Given the description of an element on the screen output the (x, y) to click on. 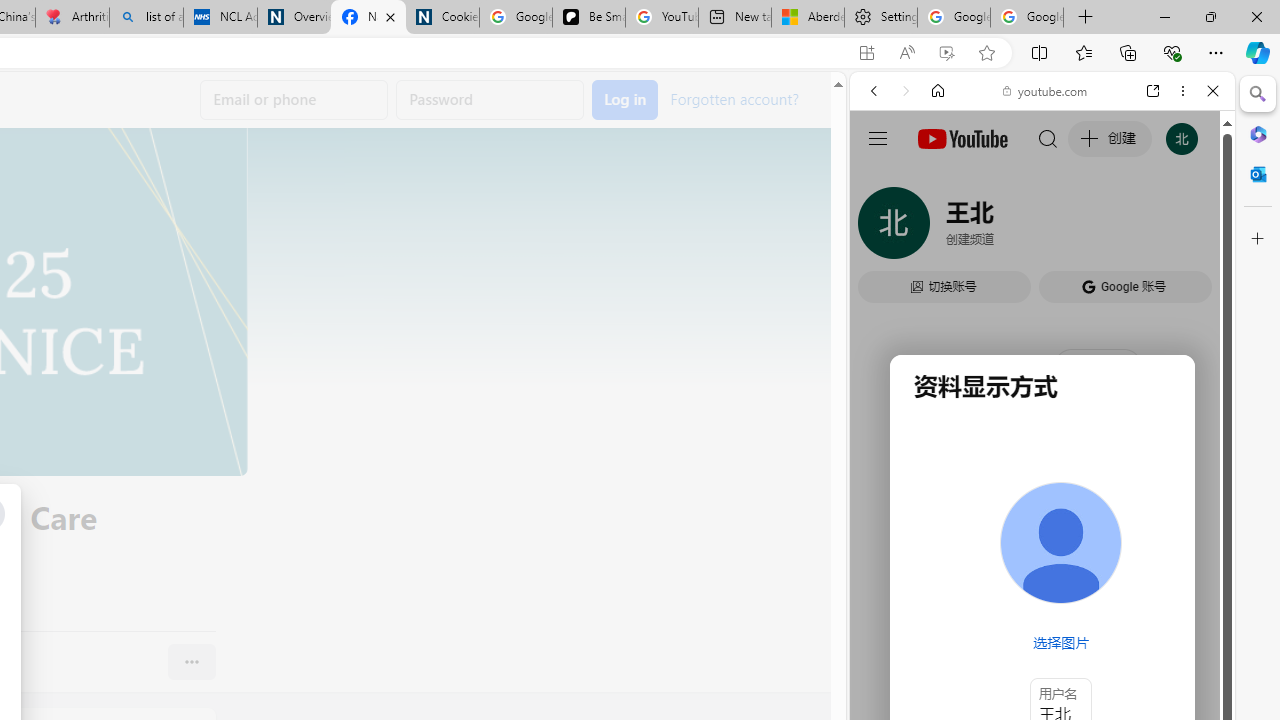
Search videos from youtube.com (1005, 657)
youtube.com (1046, 90)
App available. Install Facebook (867, 53)
